Given the description of an element on the screen output the (x, y) to click on. 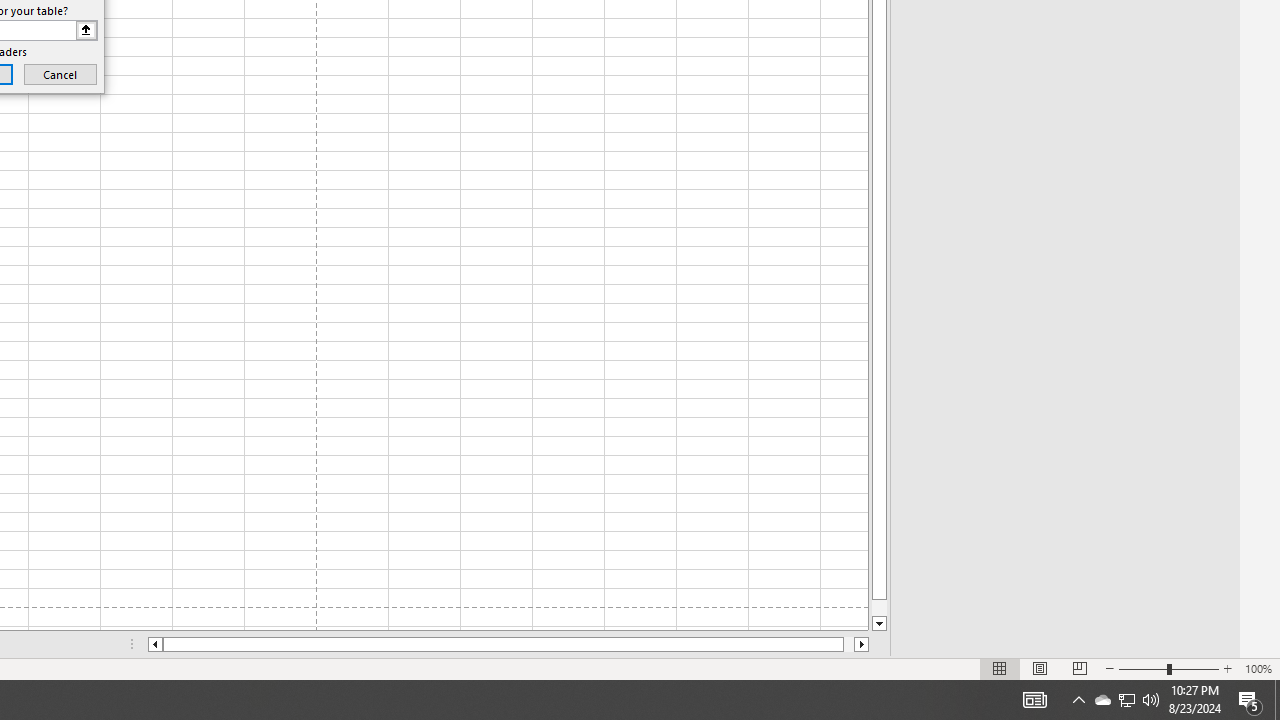
Line down (879, 624)
Column right (861, 644)
Class: NetUIScrollBar (507, 644)
Zoom Out (1142, 668)
Zoom In (1227, 668)
Page down (879, 607)
Page right (848, 644)
Zoom (1168, 668)
Column left (153, 644)
Page Break Preview (1079, 668)
